Given the description of an element on the screen output the (x, y) to click on. 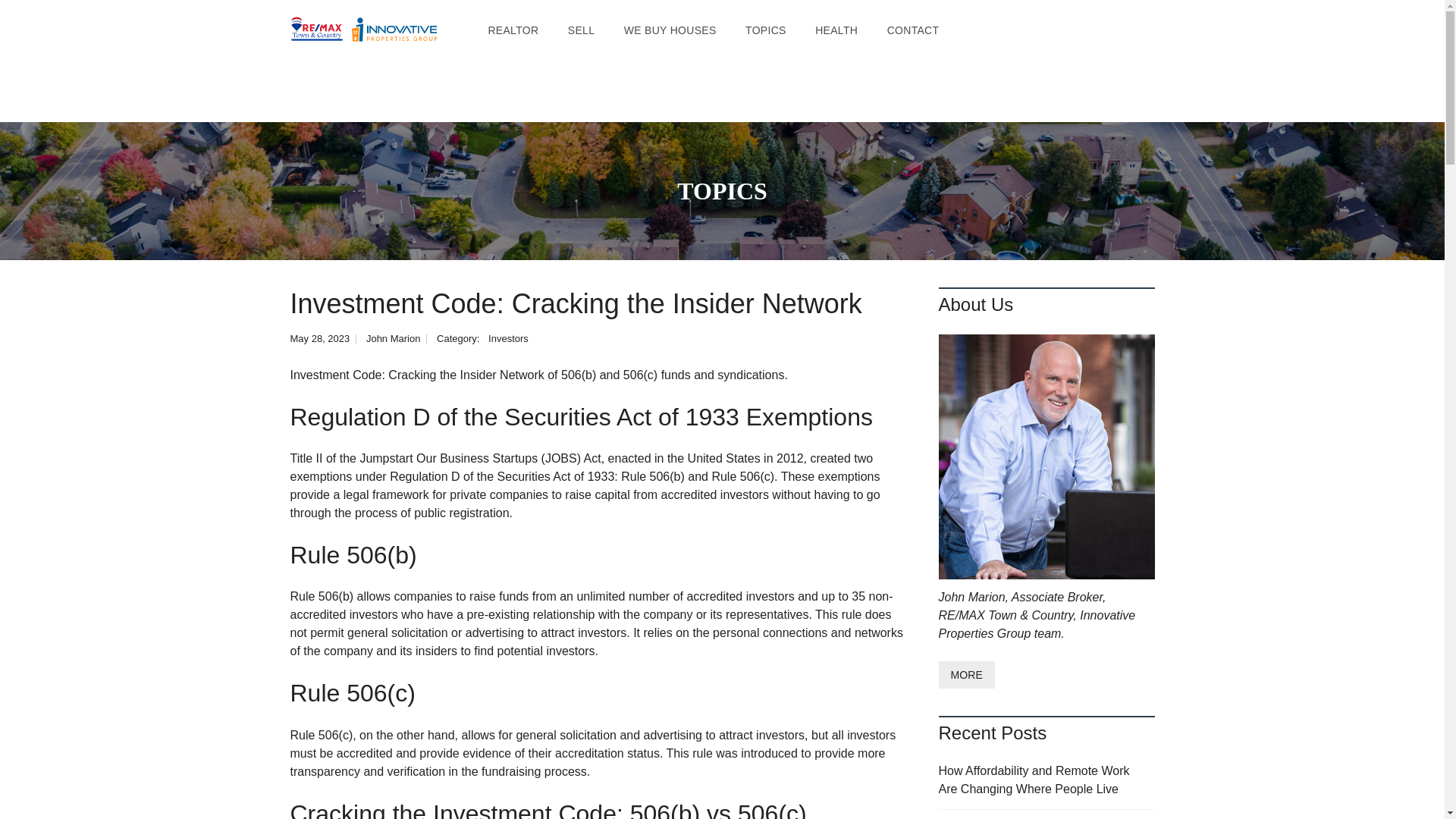
Investors (507, 337)
WE BUY HOUSES (670, 30)
Unlocking Homebuyer Opportunities in 2024 (1046, 814)
MORE (966, 674)
About Us (966, 674)
